Given the description of an element on the screen output the (x, y) to click on. 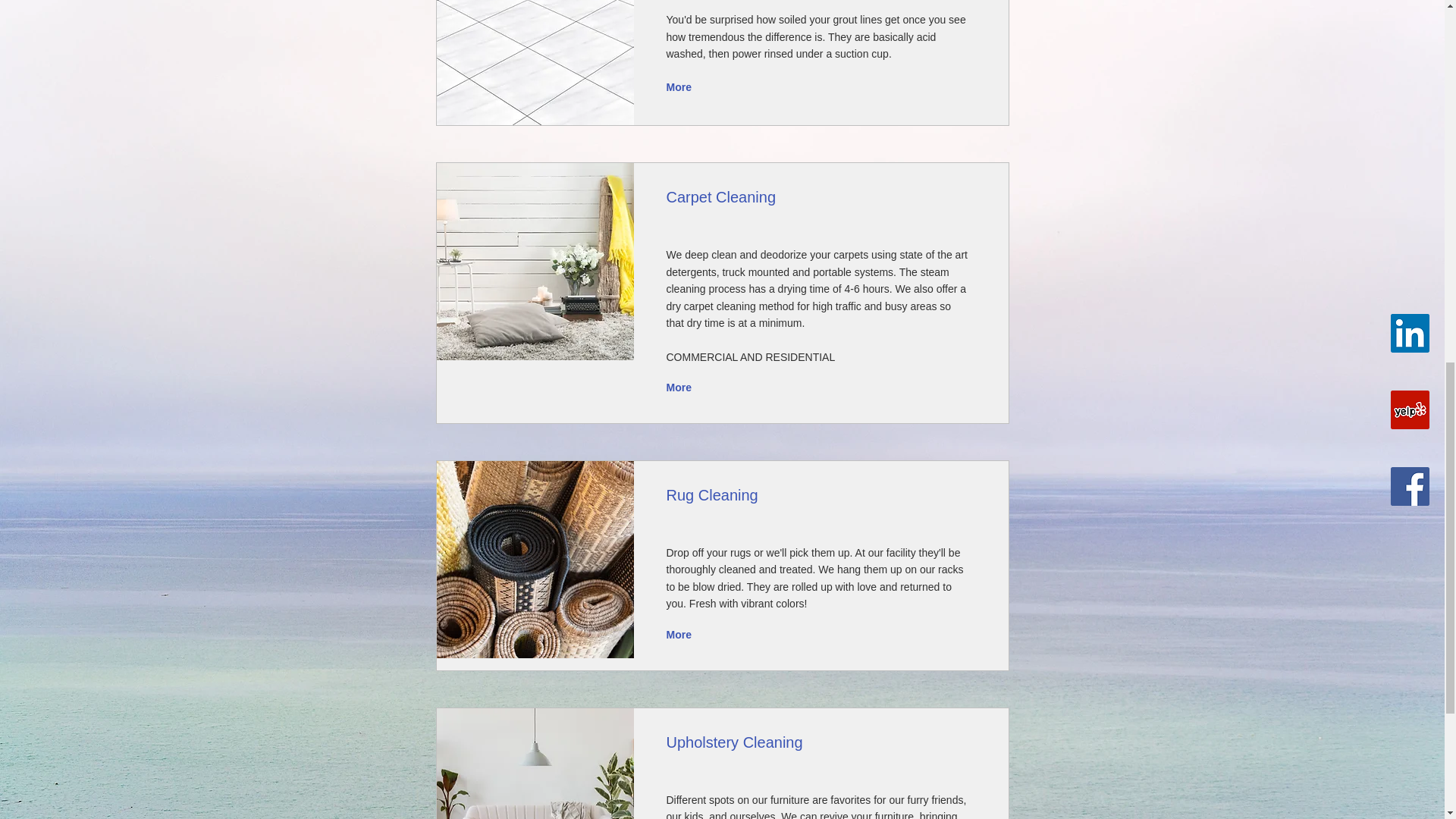
Upholstery Cleaning  (534, 763)
Carpet Cleaning (534, 261)
More (680, 87)
More (680, 387)
More (680, 635)
Rug Cleaning (534, 559)
